Given the description of an element on the screen output the (x, y) to click on. 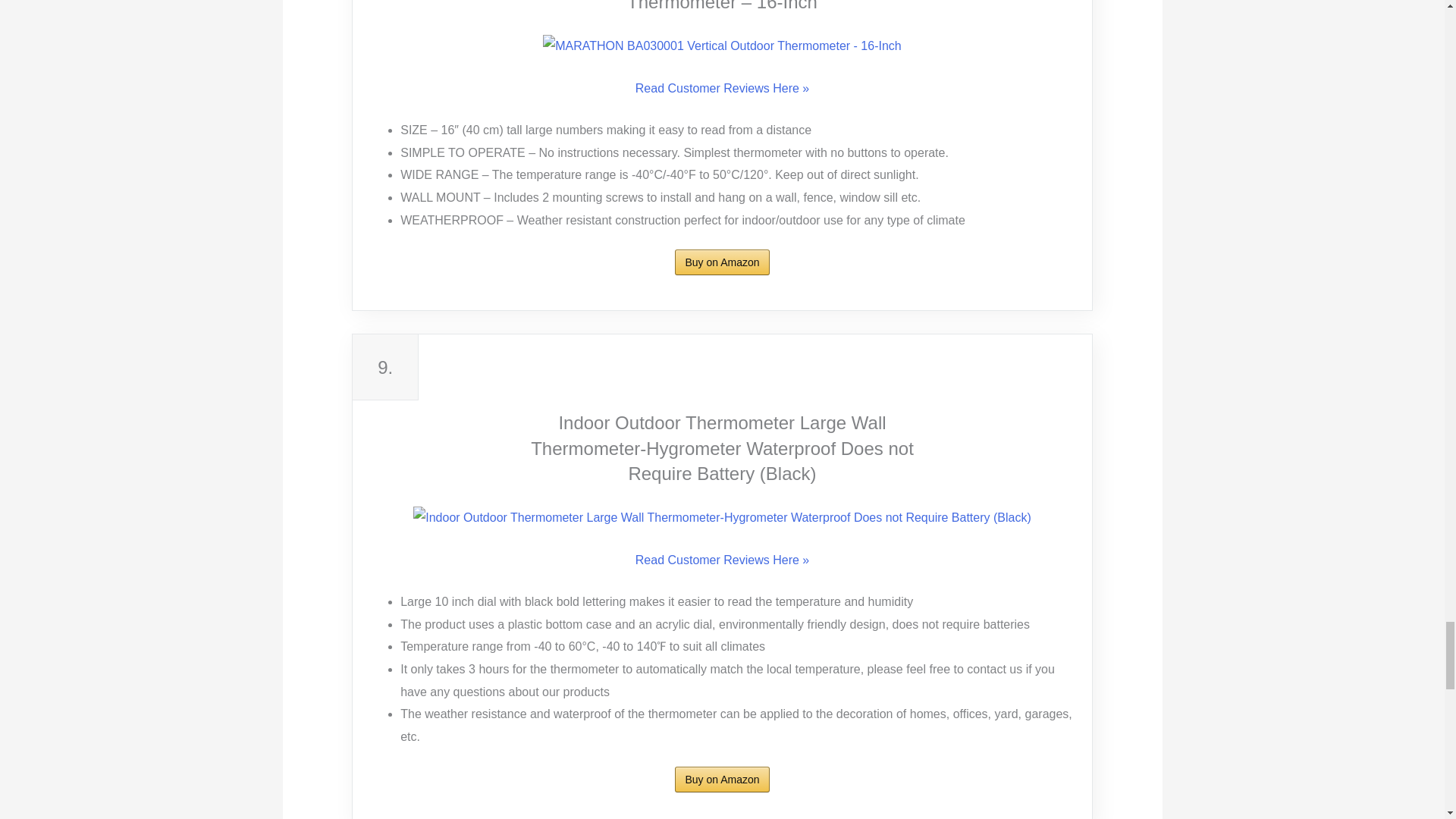
Read Customer Reviews Here (721, 87)
Buy on Amazon (721, 262)
